Given the description of an element on the screen output the (x, y) to click on. 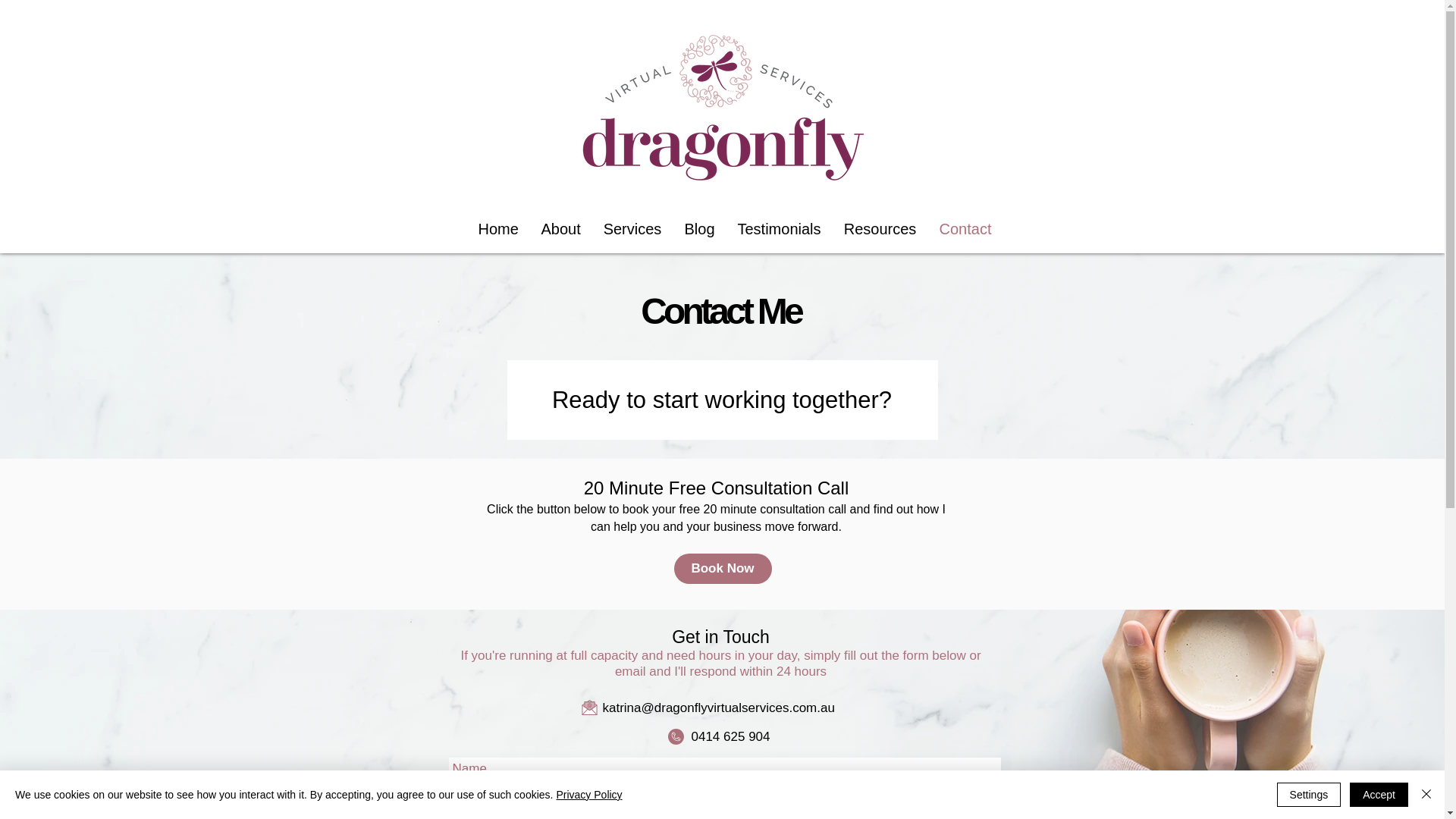
Blog Element type: text (699, 228)
Settings Element type: text (1309, 794)
Testimonials Element type: text (779, 228)
About Element type: text (560, 228)
katrina@dragonflyvirtualservices.com.au Element type: text (718, 707)
Contact Element type: text (965, 228)
Accept Element type: text (1378, 794)
Book Now Element type: text (722, 568)
Resources Element type: text (880, 228)
Privacy Policy Element type: text (588, 794)
Services Element type: text (631, 228)
Home Element type: text (498, 228)
